Given the description of an element on the screen output the (x, y) to click on. 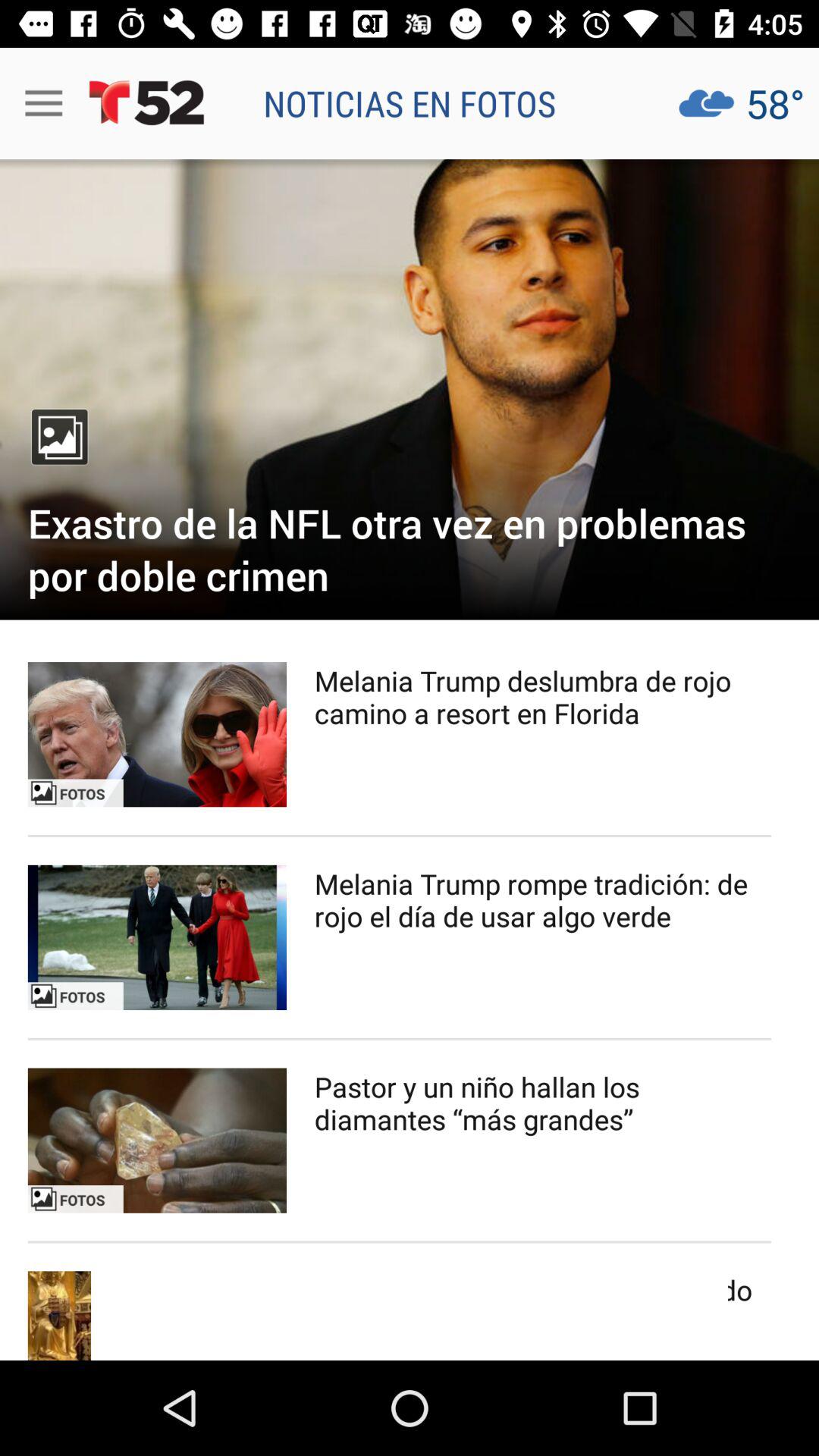
click on the last image (156, 1315)
